Given the description of an element on the screen output the (x, y) to click on. 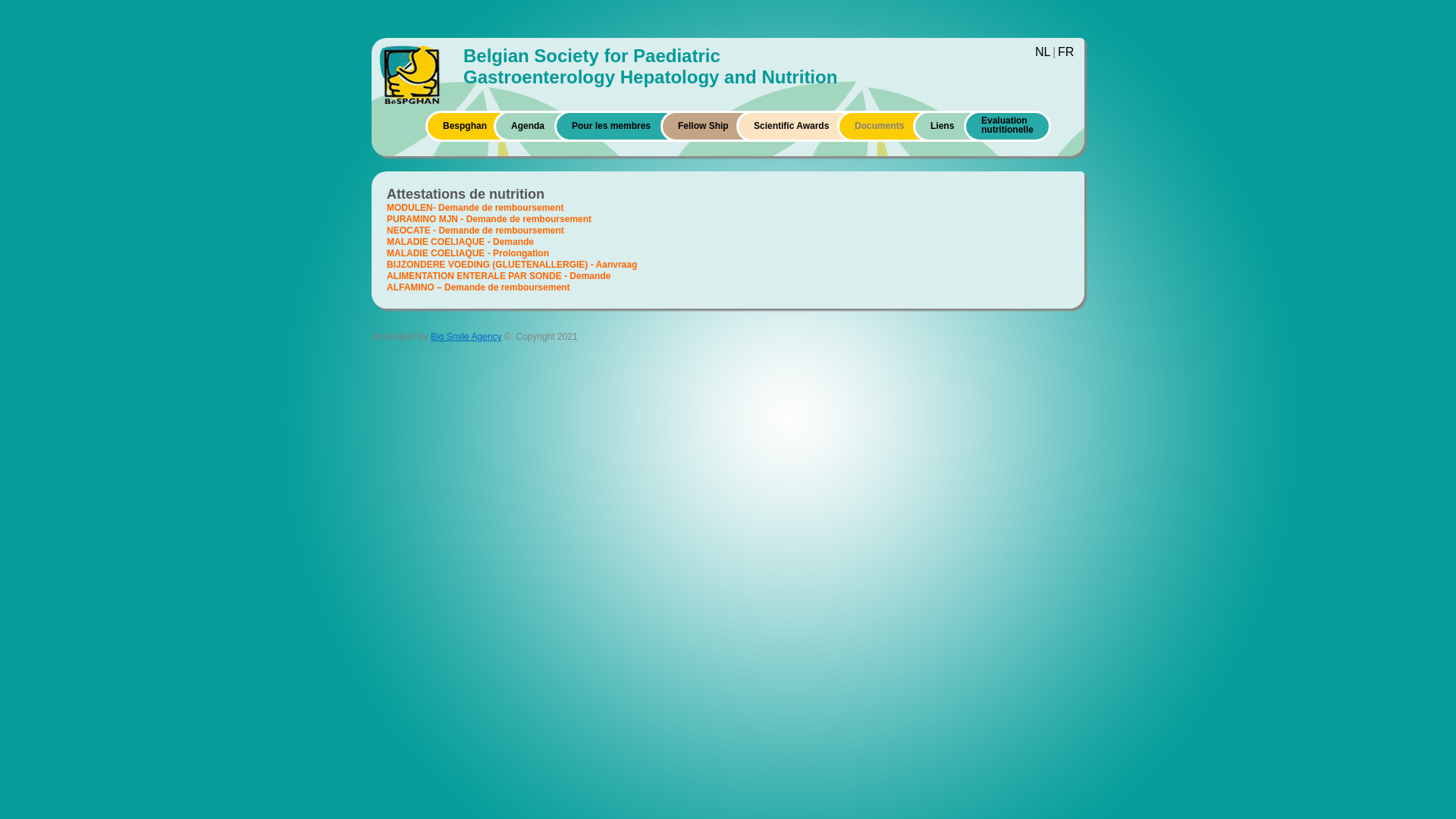
Scientific Awards Element type: text (790, 125)
NEOCATE - Demande de remboursement Element type: text (475, 230)
Documents Element type: text (878, 125)
MALADIE COELIAQUE - Demande Element type: text (459, 241)
Liens Element type: text (941, 125)
Pour les membres Element type: text (610, 125)
NL Element type: text (1042, 51)
Big Smile Agency Element type: text (465, 336)
FR Element type: text (1065, 51)
Bespghan Element type: text (464, 125)
Evaluation
nutritionelle Element type: text (1007, 128)
MODULEN- Demande de remboursement Element type: text (474, 207)
BIJZONDERE VOEDING (GLUETENALLERGIE) - Aanvraag Element type: text (511, 264)
ALIMENTATION ENTERALE PAR SONDE - Demande Element type: text (498, 275)
Fellow Ship Element type: text (702, 125)
PURAMINO MJN - Demande de remboursement Element type: text (488, 218)
Agenda Element type: text (527, 125)
MALADIE COELIAQUE - Prolongation Element type: text (467, 252)
